Given the description of an element on the screen output the (x, y) to click on. 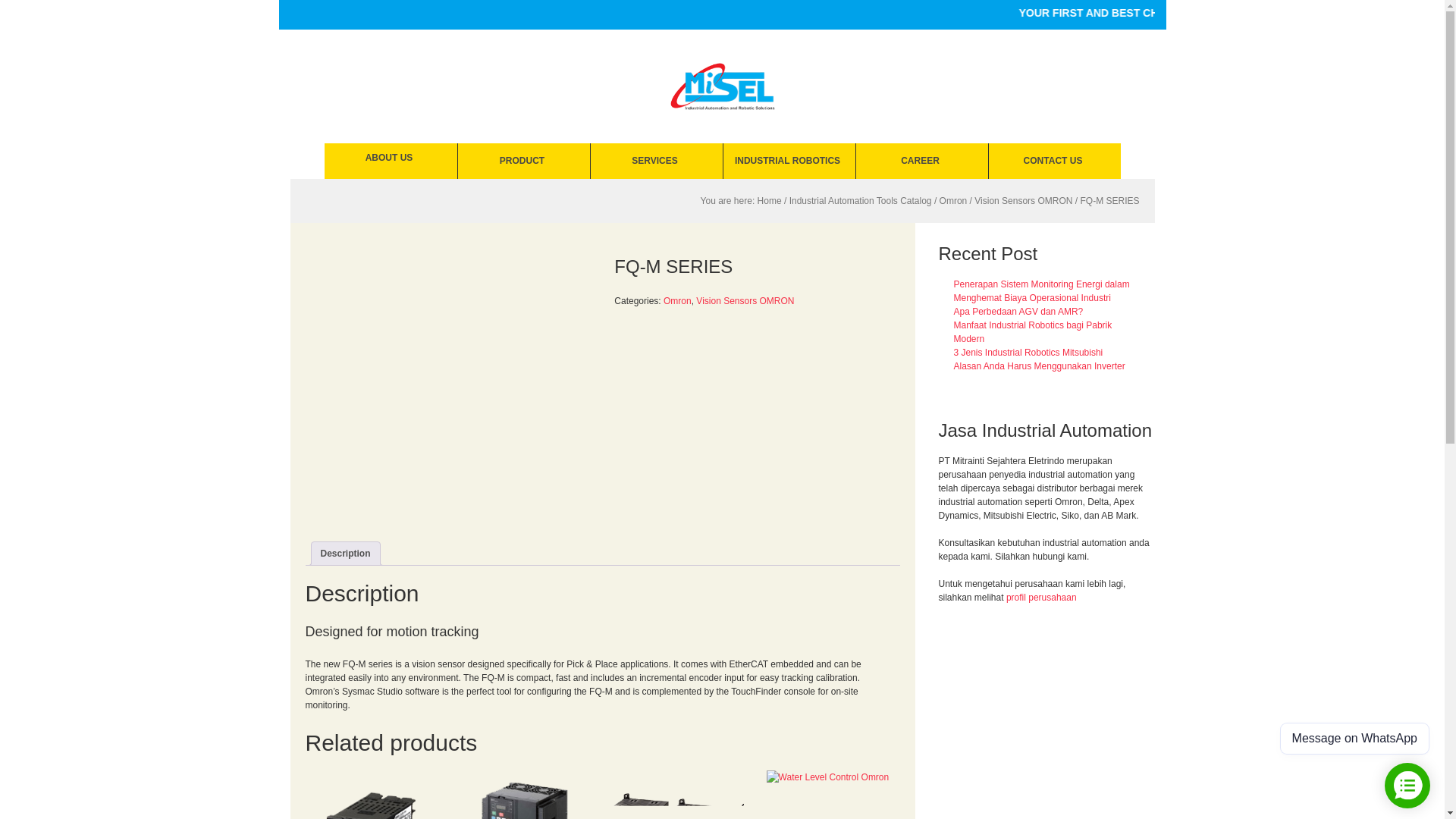
Omron (953, 200)
Home (769, 200)
profil perusahaa (1038, 597)
E5CN-H (369, 794)
Alasan Anda Harus Menggunakan Inverter (1039, 366)
3 Jenis Industrial Robotics Mitsubishi (1028, 352)
Vision Sensors OMRON (1022, 200)
Omron Level Switch FLOATLESS LEVEL CONTROL (832, 794)
PRODUCT (523, 161)
